Given the description of an element on the screen output the (x, y) to click on. 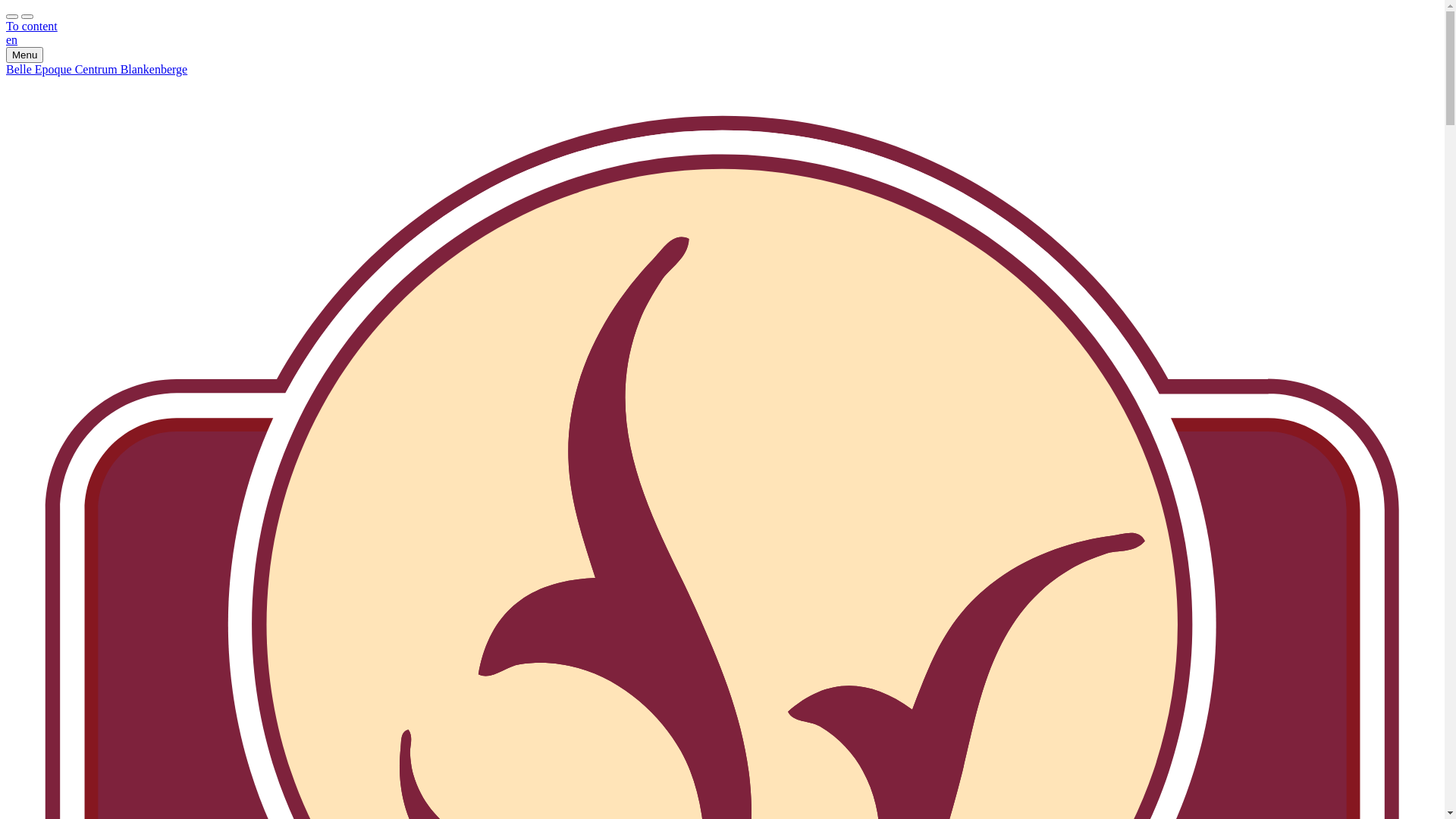
decline Element type: text (27, 16)
Menu Element type: text (24, 54)
To content Element type: text (31, 25)
en Element type: text (11, 39)
acceptall Element type: text (12, 16)
